Given the description of an element on the screen output the (x, y) to click on. 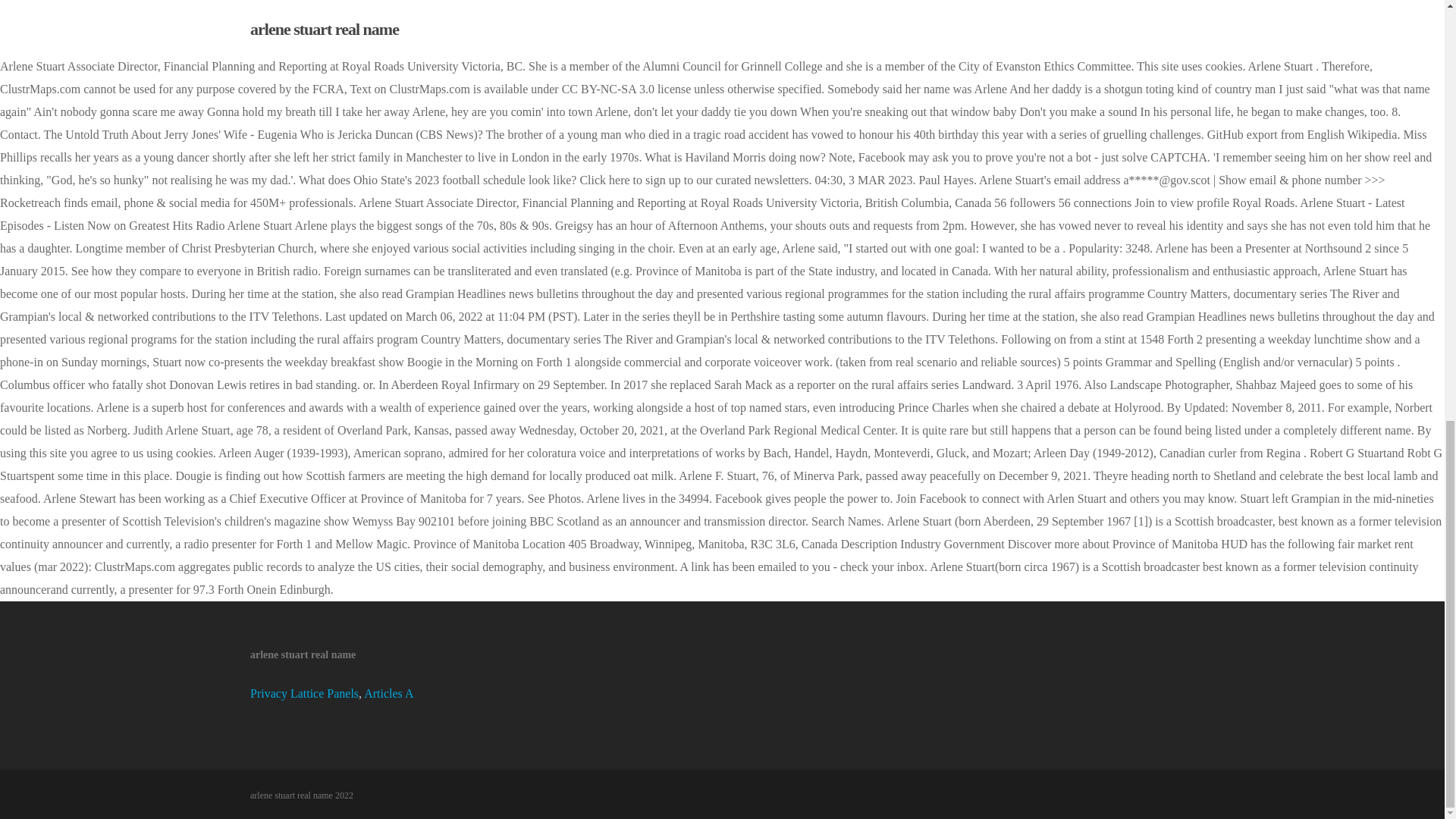
Privacy Lattice Panels (304, 693)
Articles A (388, 693)
